Given the description of an element on the screen output the (x, y) to click on. 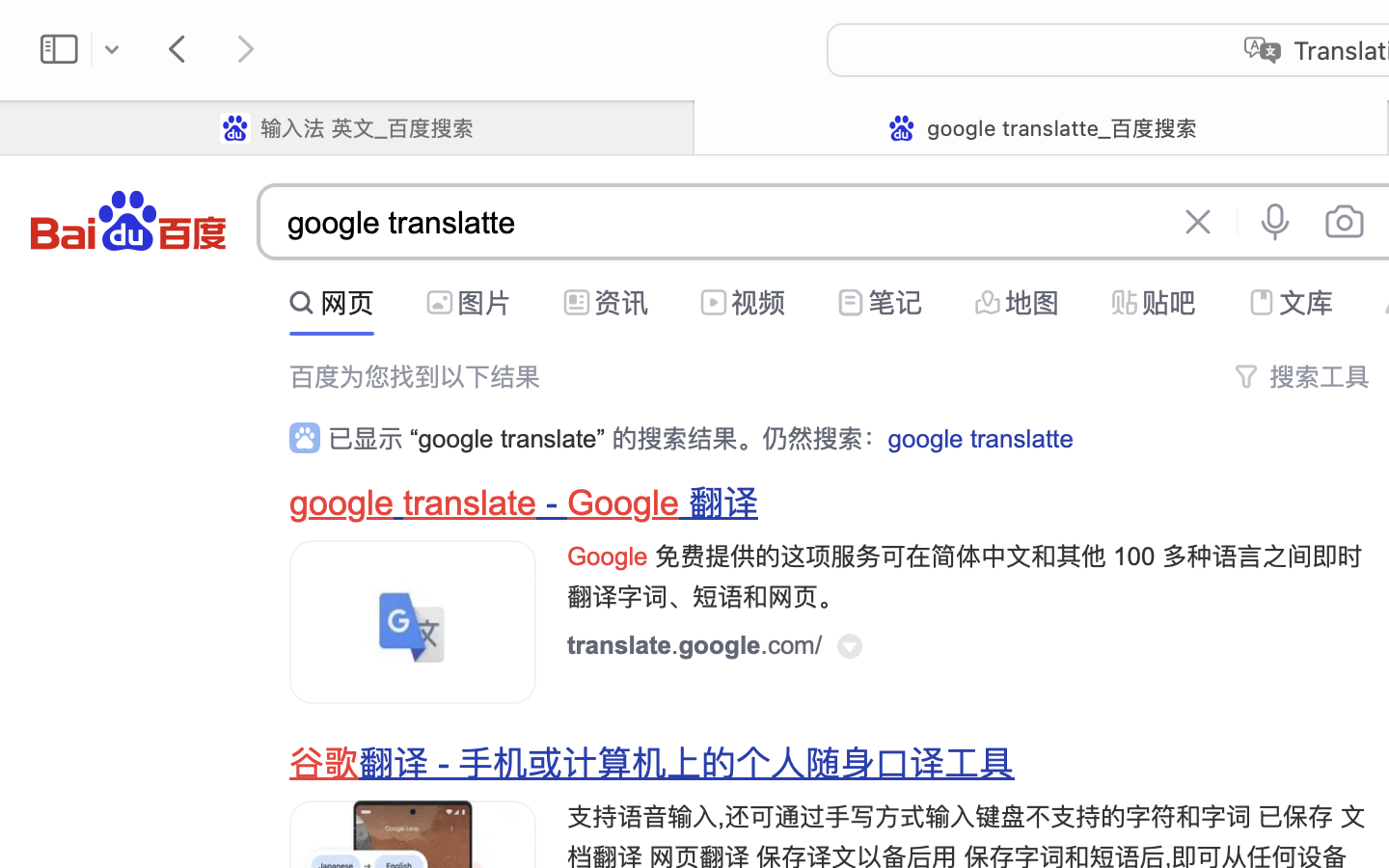
 Element type: AXStaticText (302, 302)
站点内检索 Element type: AXStaticText (797, 297)
 Element type: AXStaticText (1261, 302)
视频 Element type: AXStaticText (758, 302)
的搜索结果。仍然搜索： Element type: AXStaticText (746, 438)
